Given the description of an element on the screen output the (x, y) to click on. 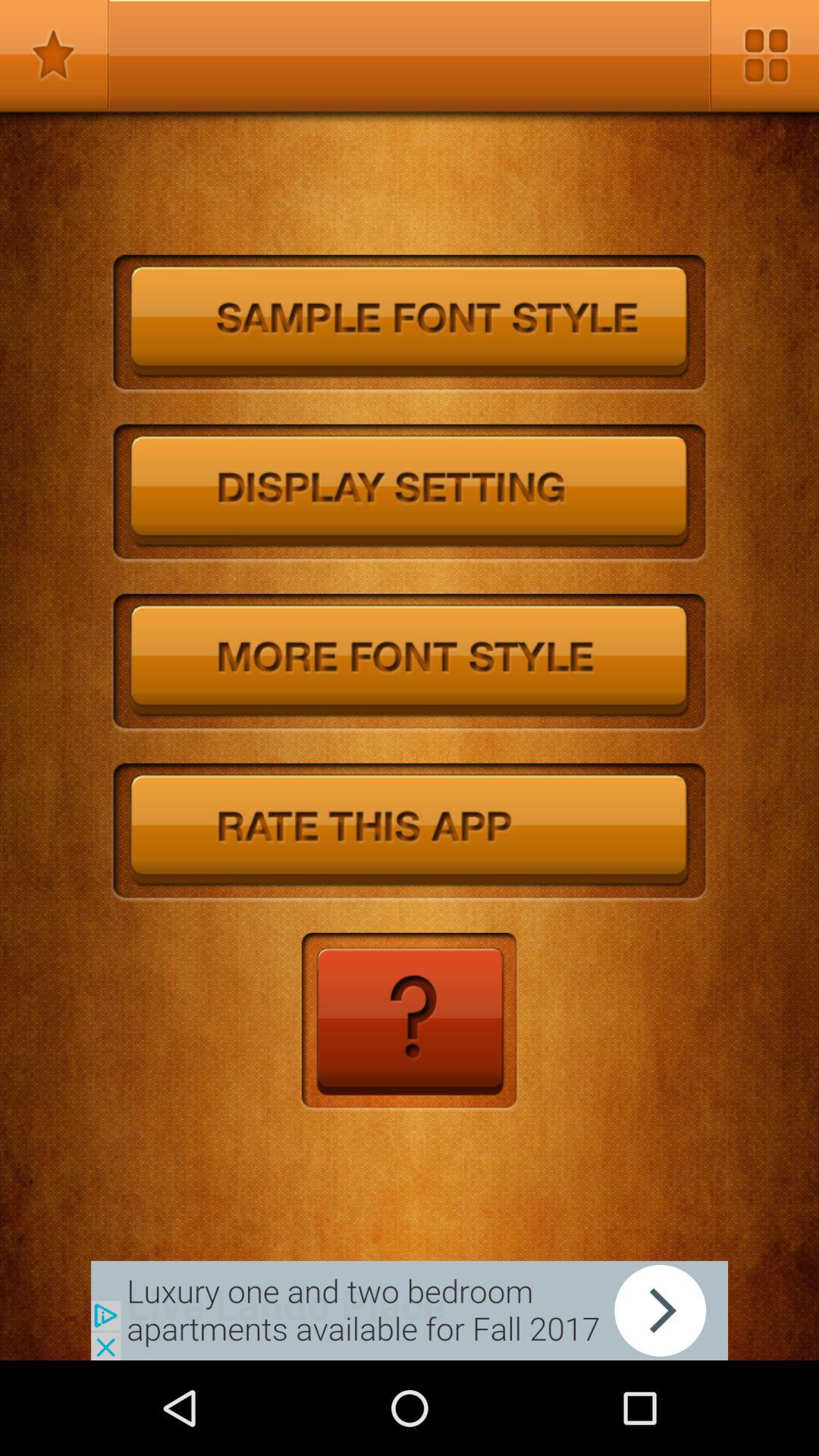
favourite (54, 54)
